Given the description of an element on the screen output the (x, y) to click on. 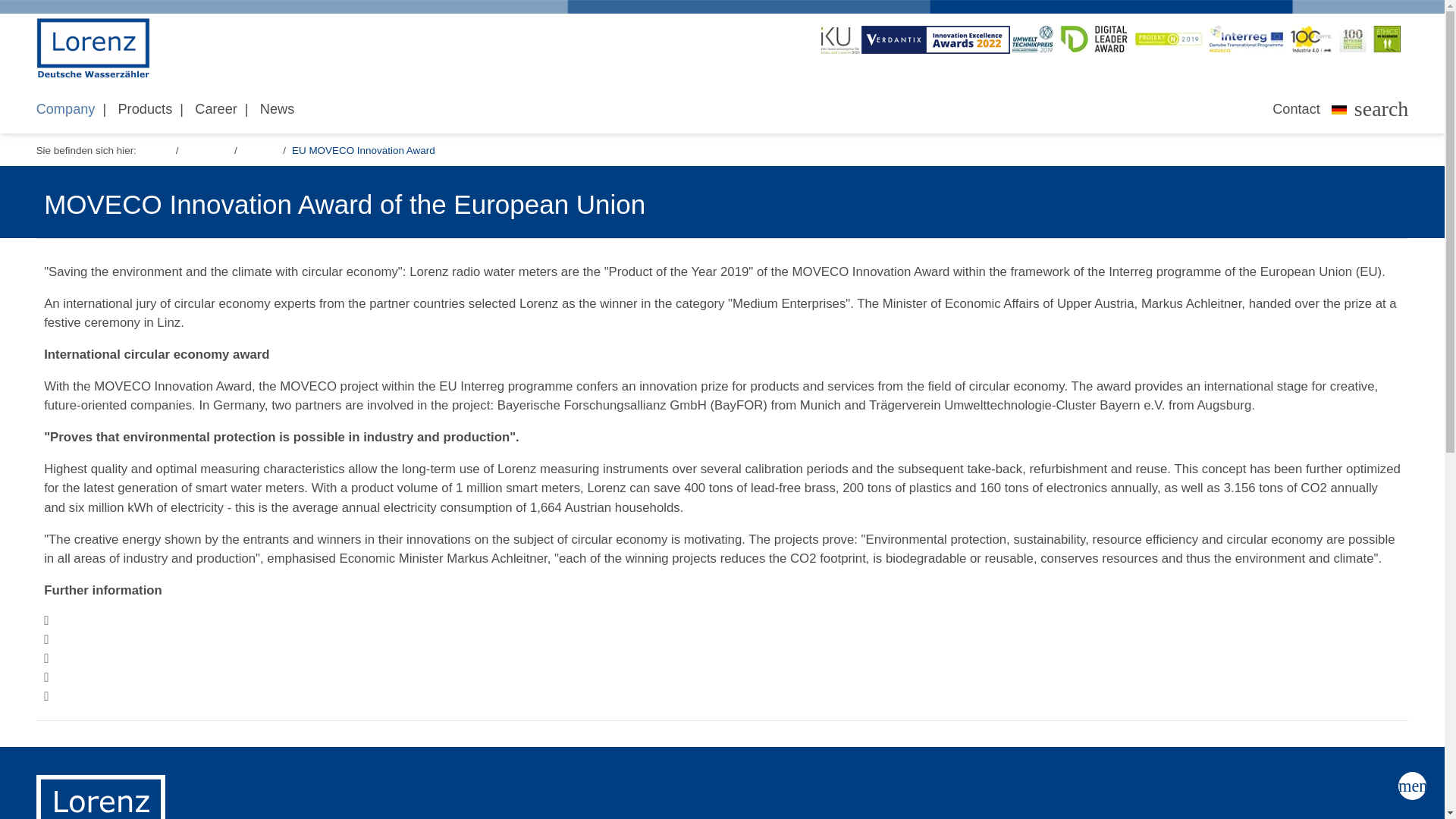
Contact (1296, 109)
Contact (1296, 109)
Products (144, 109)
Deutsch: EU MOVECO Innovation Award (1339, 112)
Company (65, 109)
